Given the description of an element on the screen output the (x, y) to click on. 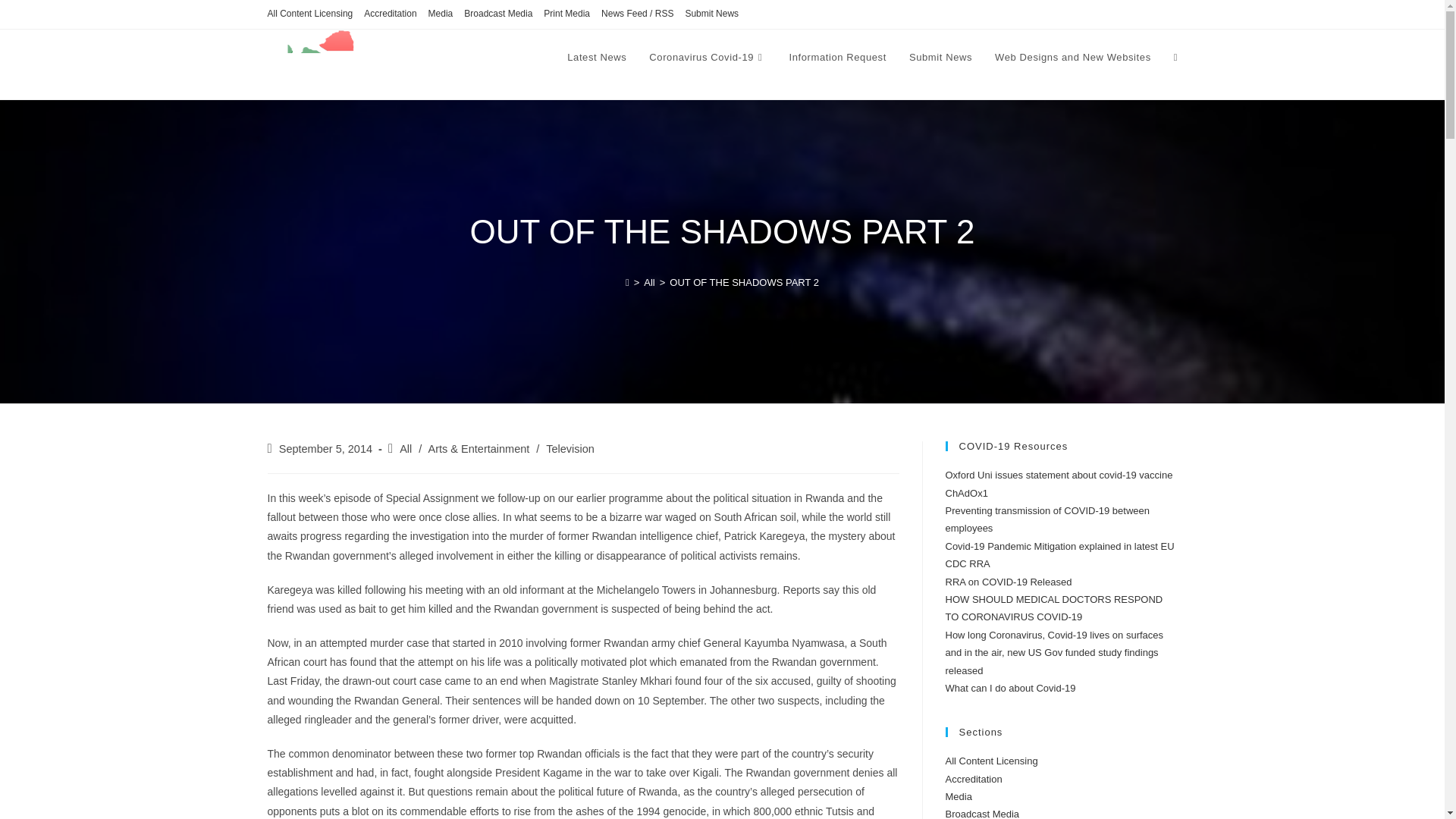
All Content Licensing (309, 13)
Print Media (566, 13)
Accreditation (390, 13)
Broadcast Media (498, 13)
Accreditation (390, 13)
Submit News (711, 13)
Print Media (566, 13)
Media (440, 13)
Media (957, 796)
Submit News (941, 57)
